Given the description of an element on the screen output the (x, y) to click on. 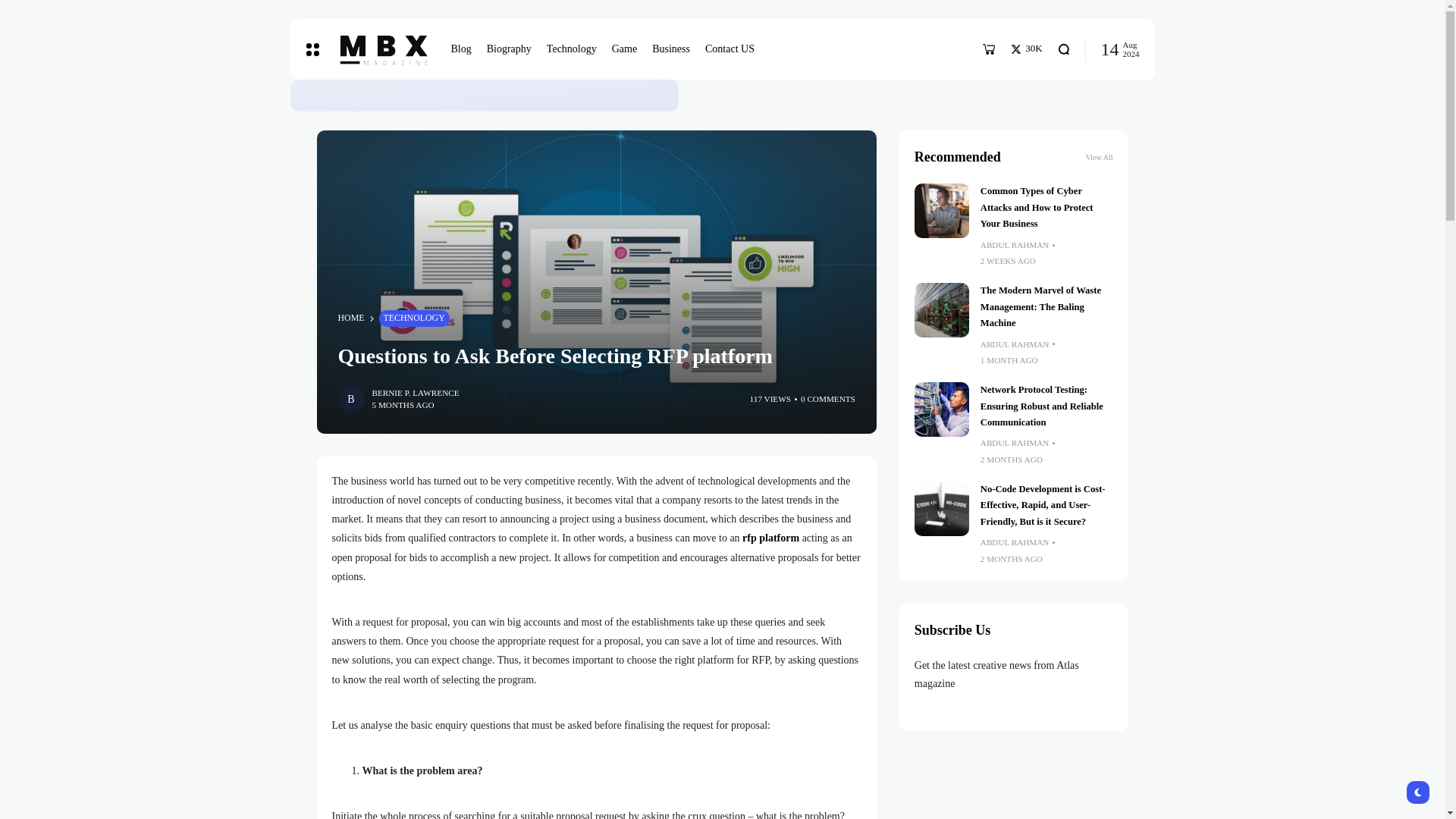
30K (1026, 48)
BERNIE P. LAWRENCE (414, 392)
TECHNOLOGY (413, 318)
HOME (351, 318)
117 VIEWS (769, 399)
rfp platform (770, 537)
Posts by Bernie P. Lawrence (414, 392)
0 COMMENTS (828, 399)
MBX Magazine (380, 49)
